Given the description of an element on the screen output the (x, y) to click on. 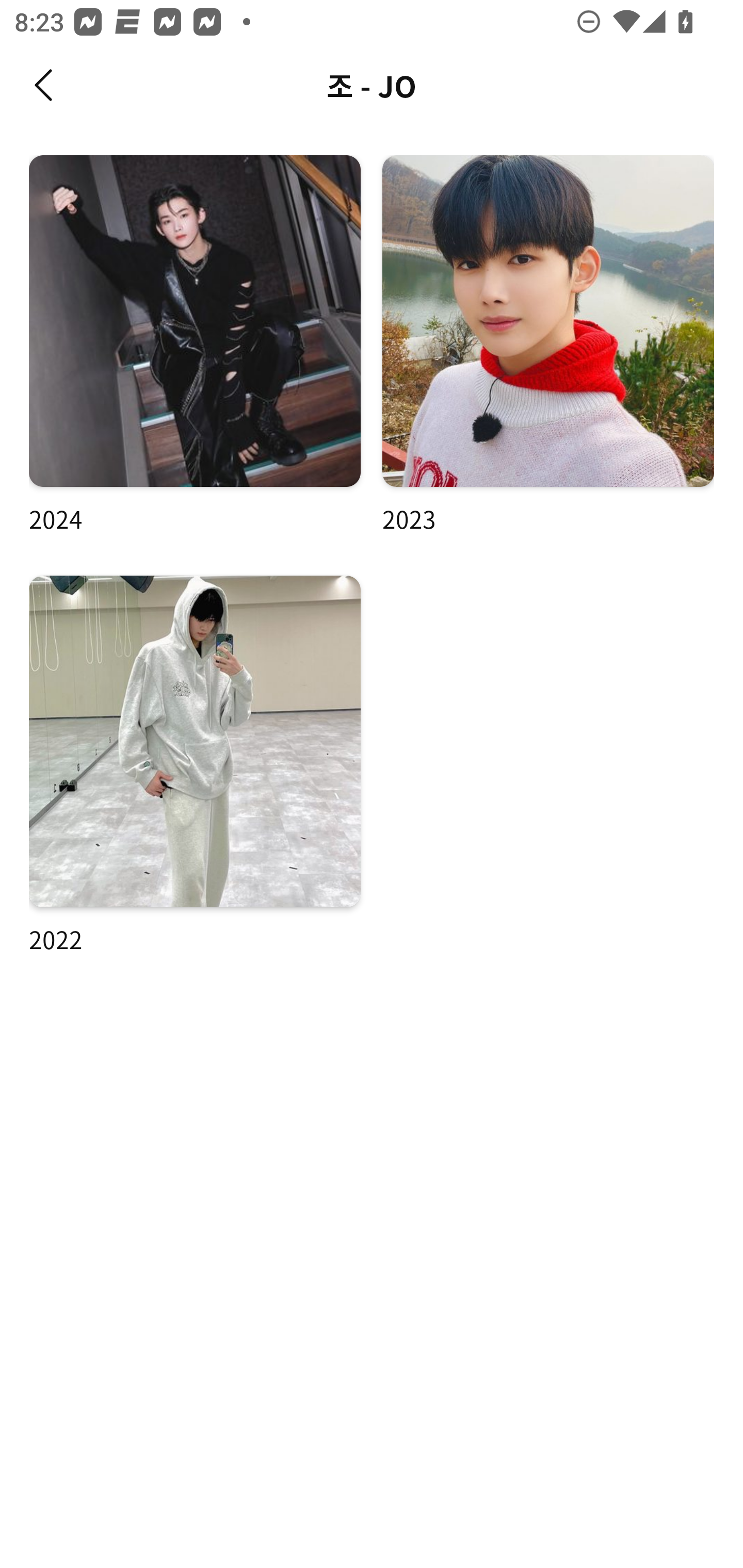
2024 (194, 345)
2023 (548, 345)
2022 (194, 765)
